Given the description of an element on the screen output the (x, y) to click on. 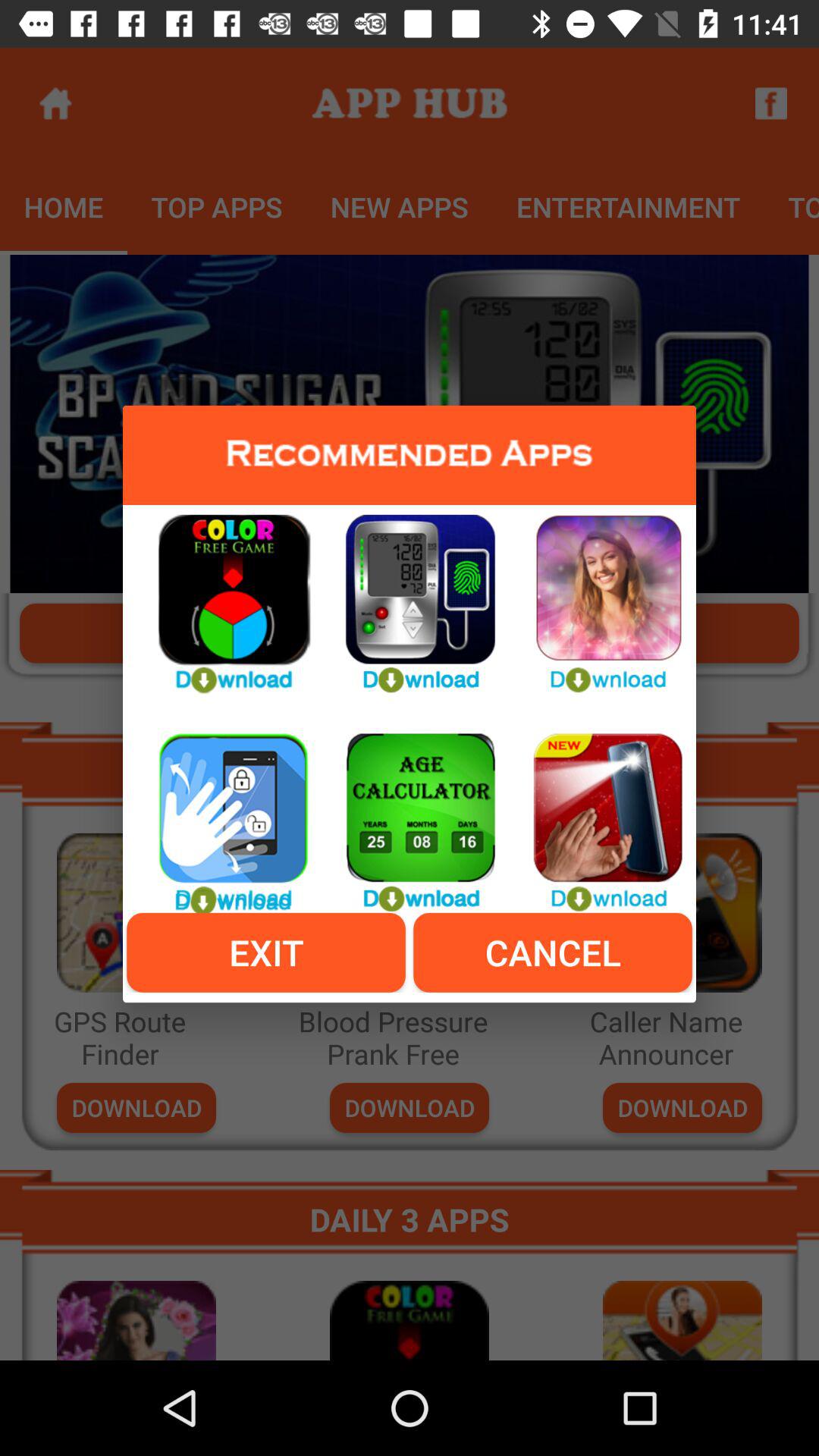
click to thre app (596, 594)
